Given the description of an element on the screen output the (x, y) to click on. 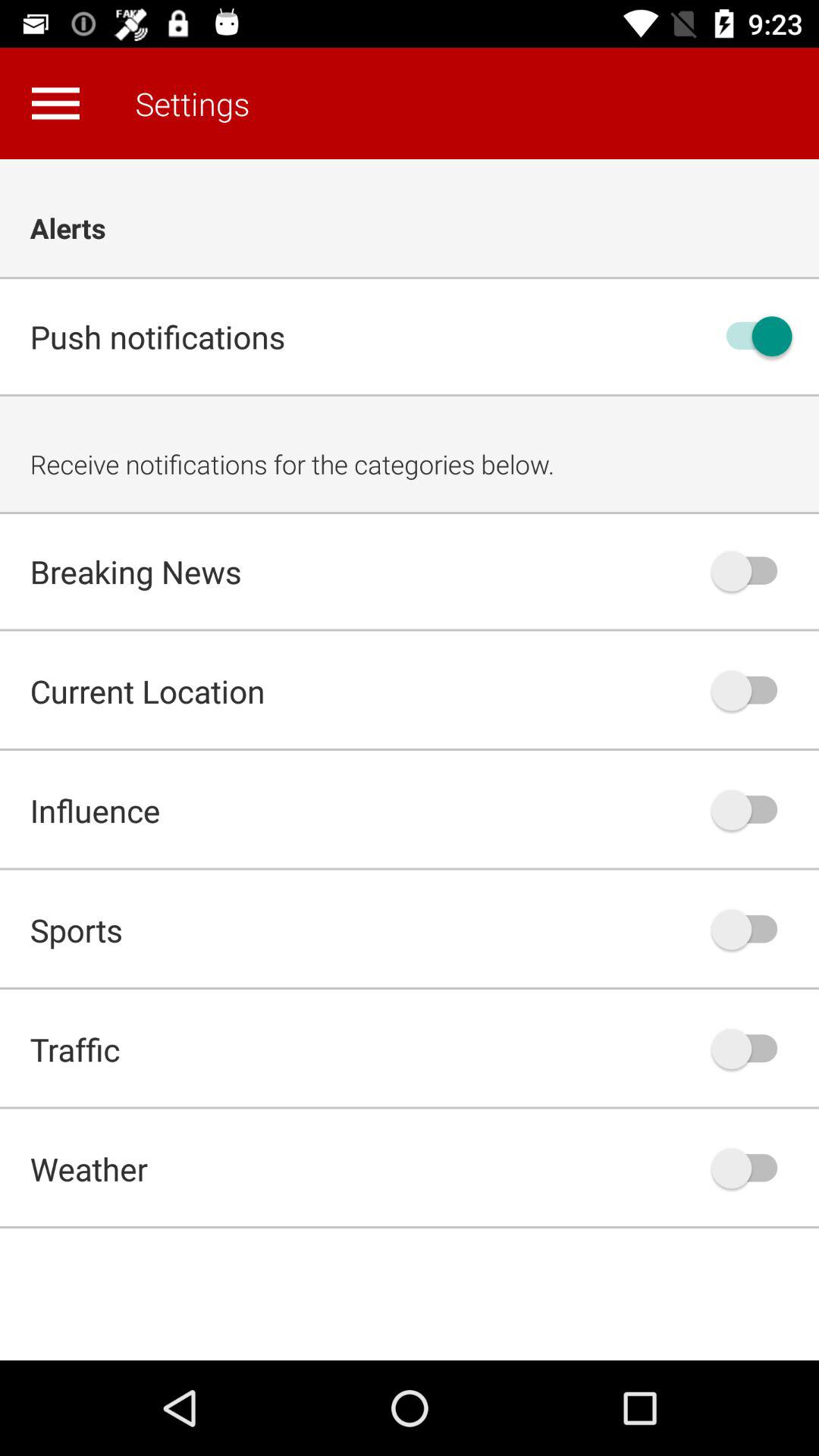
toggle notifications for breaking news (751, 571)
